Given the description of an element on the screen output the (x, y) to click on. 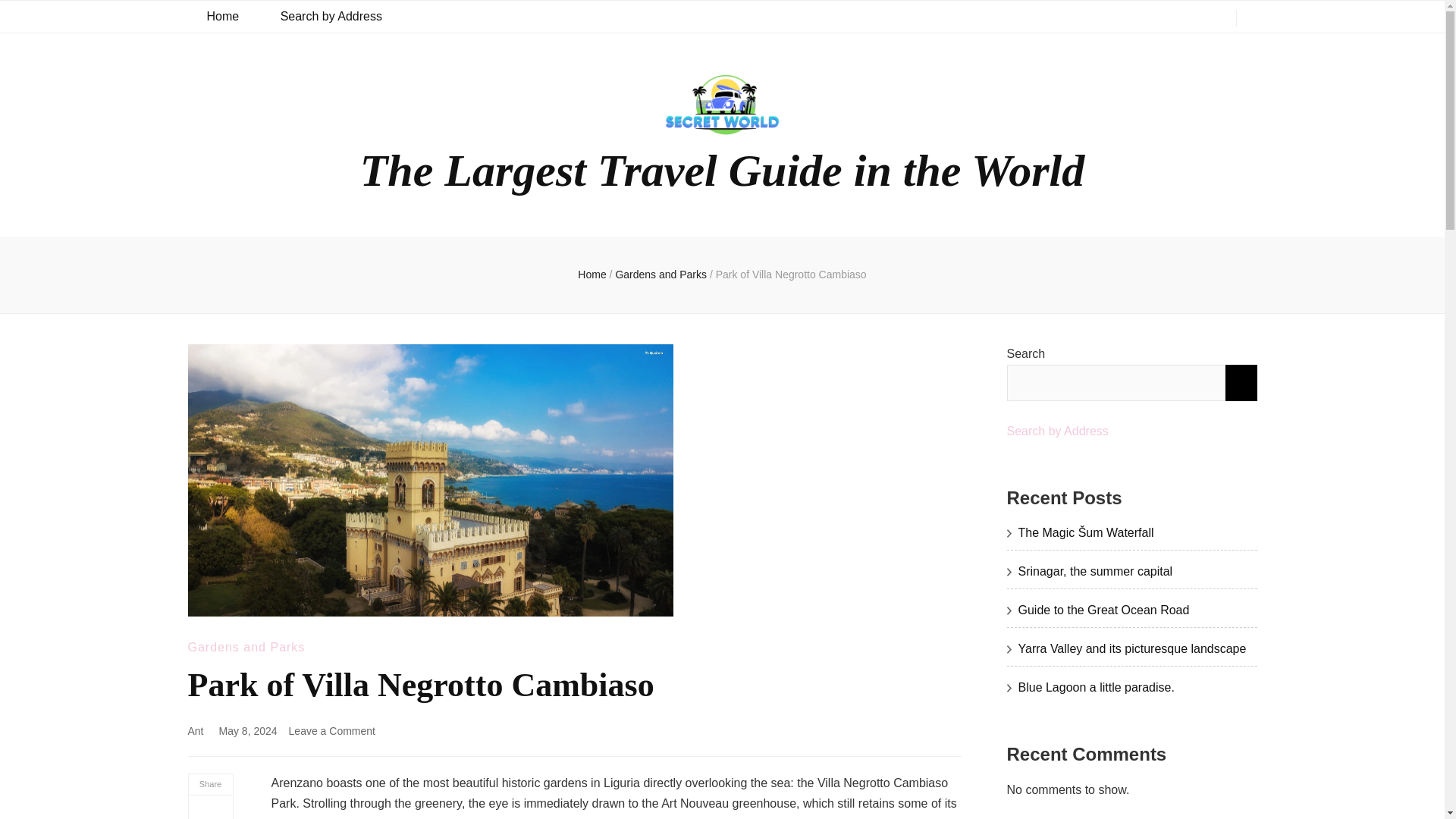
The Largest Travel Guide in the World (721, 170)
Ant (195, 730)
Gardens and Parks (662, 274)
Park of Villa Negrotto Cambiaso (791, 274)
Home (591, 274)
Search by Address (331, 730)
May 8, 2024 (331, 16)
Home (248, 730)
Gardens and Parks (222, 16)
